Given the description of an element on the screen output the (x, y) to click on. 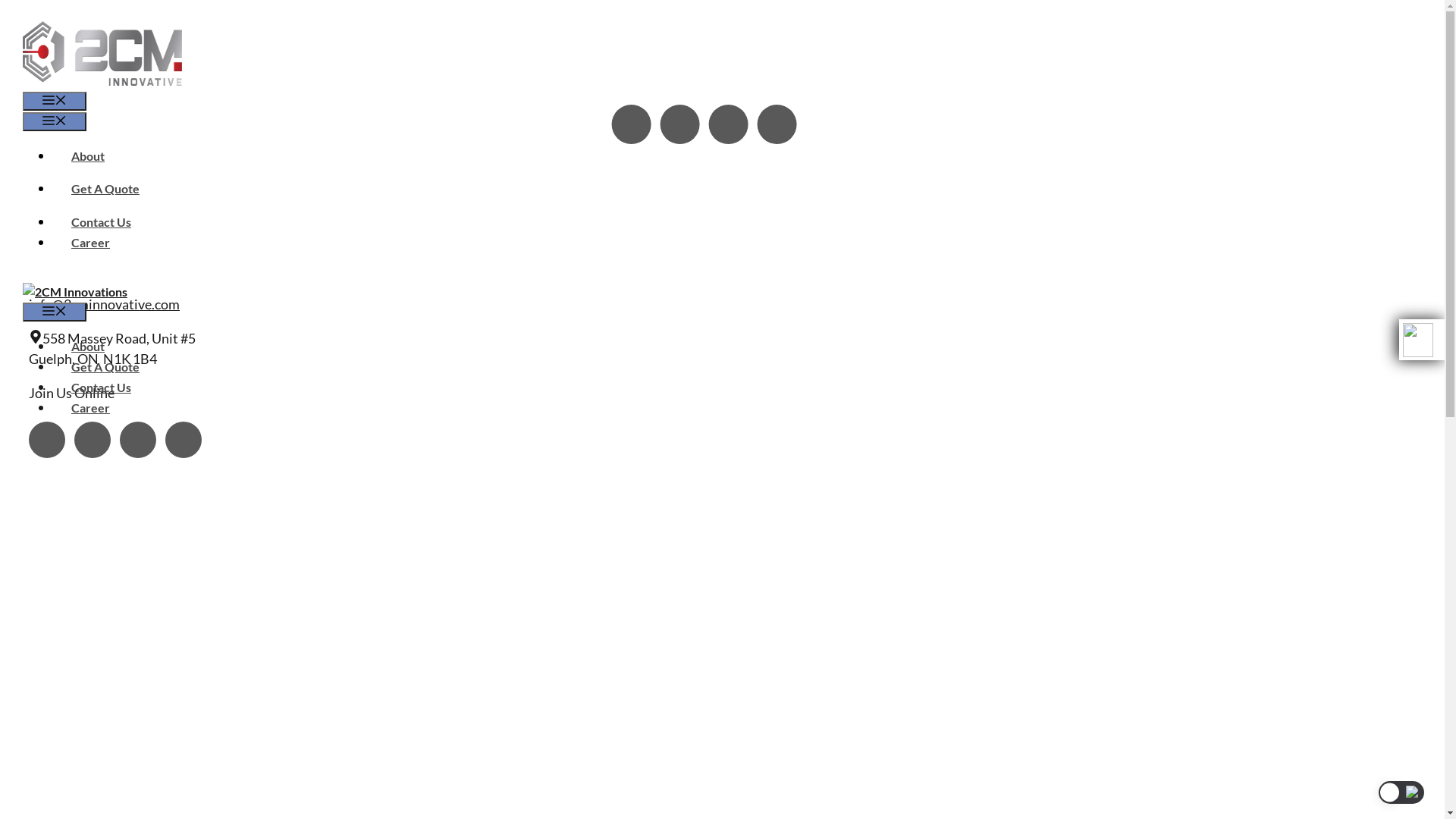
Contact Us Element type: text (101, 221)
YouTube Element type: text (137, 439)
Facebook Element type: text (679, 124)
About Element type: text (87, 345)
519-826-6133 Element type: text (84, 235)
YouTube Element type: text (727, 124)
LinkedIn Element type: text (776, 124)
Instagram Element type: text (630, 124)
info@2cminnovative.com Element type: text (103, 303)
Contact Us Element type: text (101, 386)
LinkedIn Element type: text (183, 439)
2CM Innovations Element type: hover (74, 291)
General Inquiries Element type: text (93, 269)
Get A Quote Element type: text (105, 188)
Get A Quote Element type: text (105, 366)
Menu Element type: text (54, 311)
Facebook Element type: text (92, 439)
request a quotation today Element type: text (651, 201)
Instagram Element type: text (46, 439)
Menu Element type: text (54, 121)
About Element type: text (87, 155)
Career Element type: text (90, 407)
Menu Element type: text (54, 100)
Career Element type: text (90, 242)
